Given the description of an element on the screen output the (x, y) to click on. 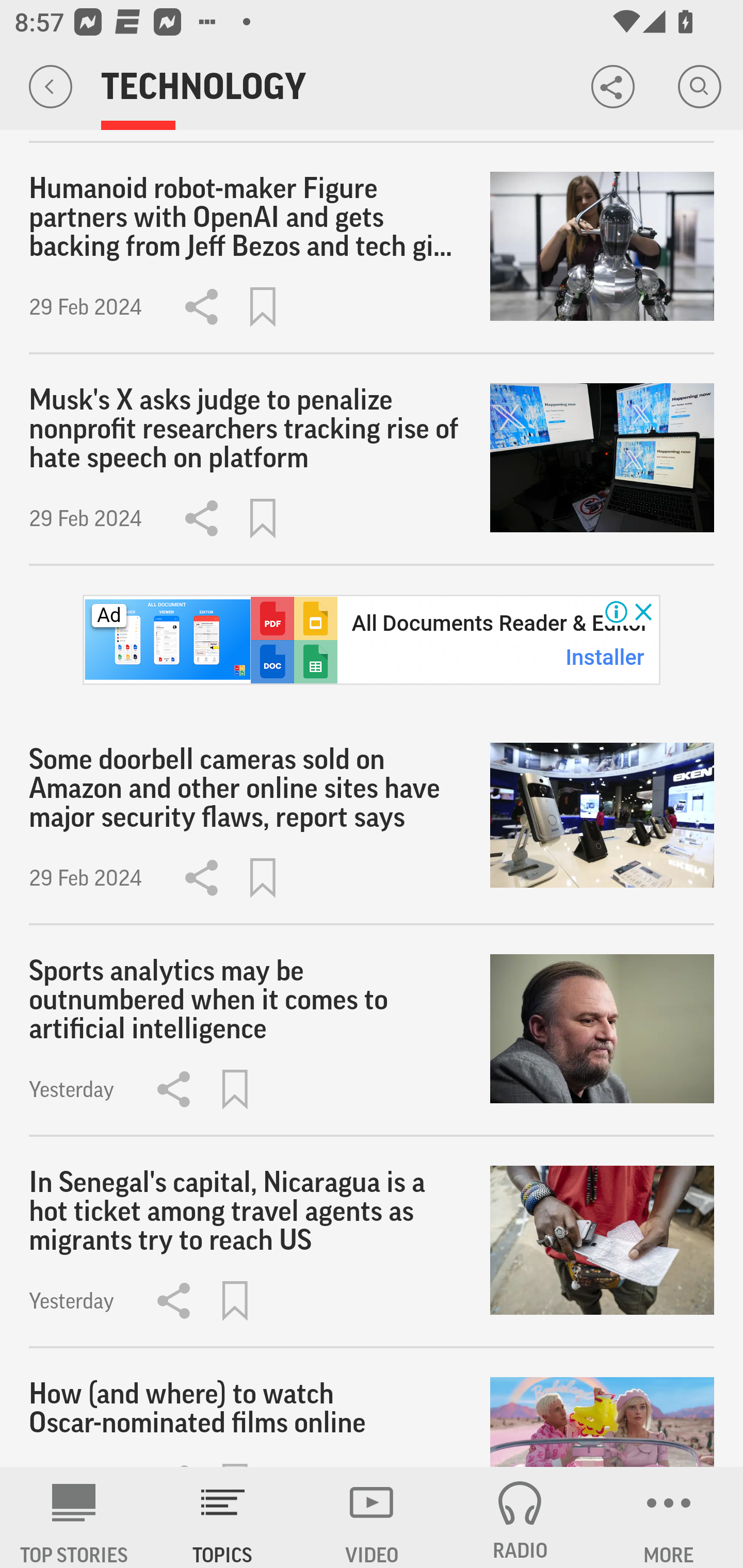
All Documents Reader & Editor (499, 623)
Installer (604, 658)
AP News TOP STORIES (74, 1517)
TOPICS (222, 1517)
VIDEO (371, 1517)
RADIO (519, 1517)
MORE (668, 1517)
